Given the description of an element on the screen output the (x, y) to click on. 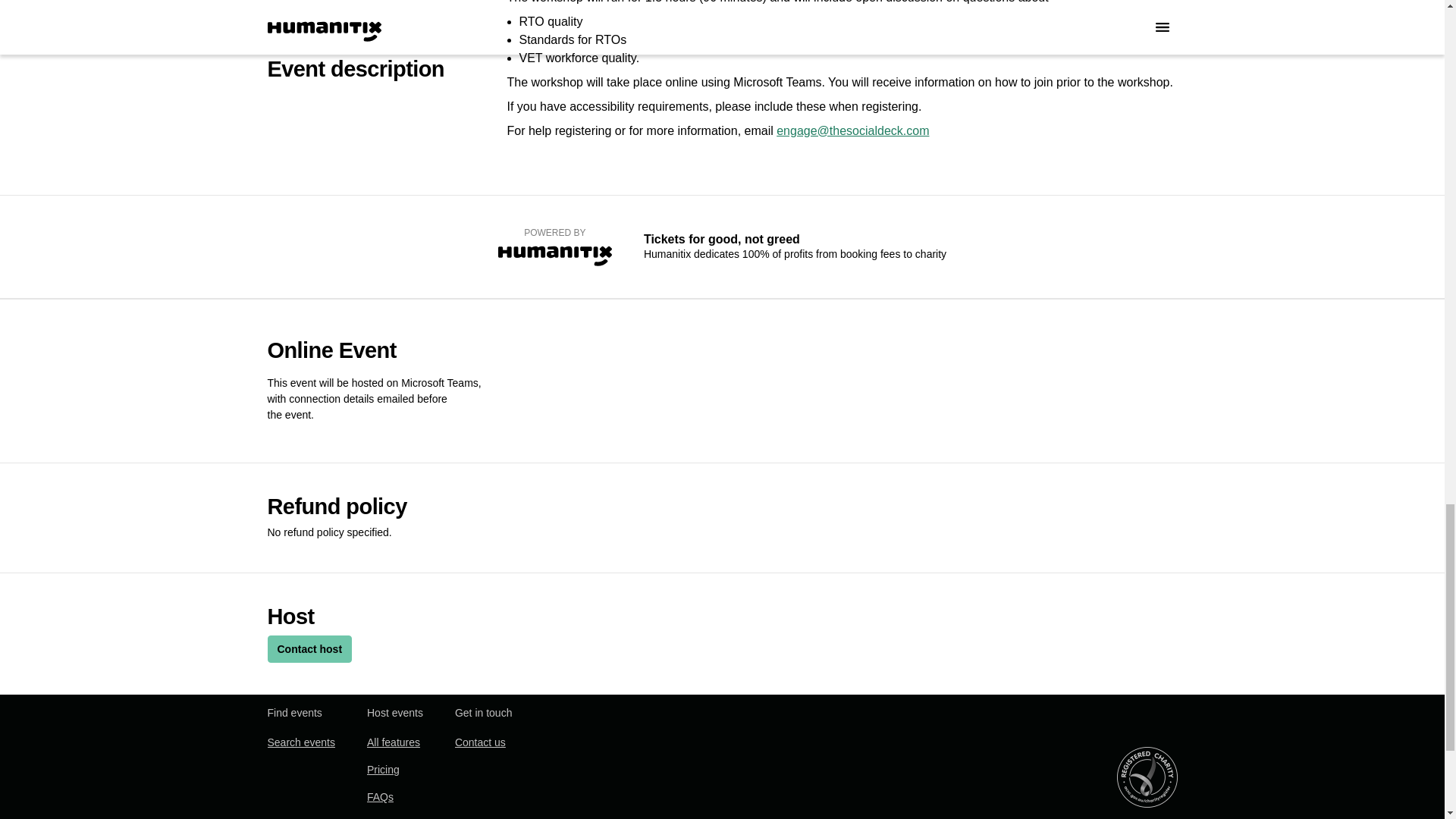
Contact us (479, 741)
Search events (300, 741)
All features (393, 741)
Contact host (309, 648)
Pricing (382, 768)
FAQs (379, 796)
